Given the description of an element on the screen output the (x, y) to click on. 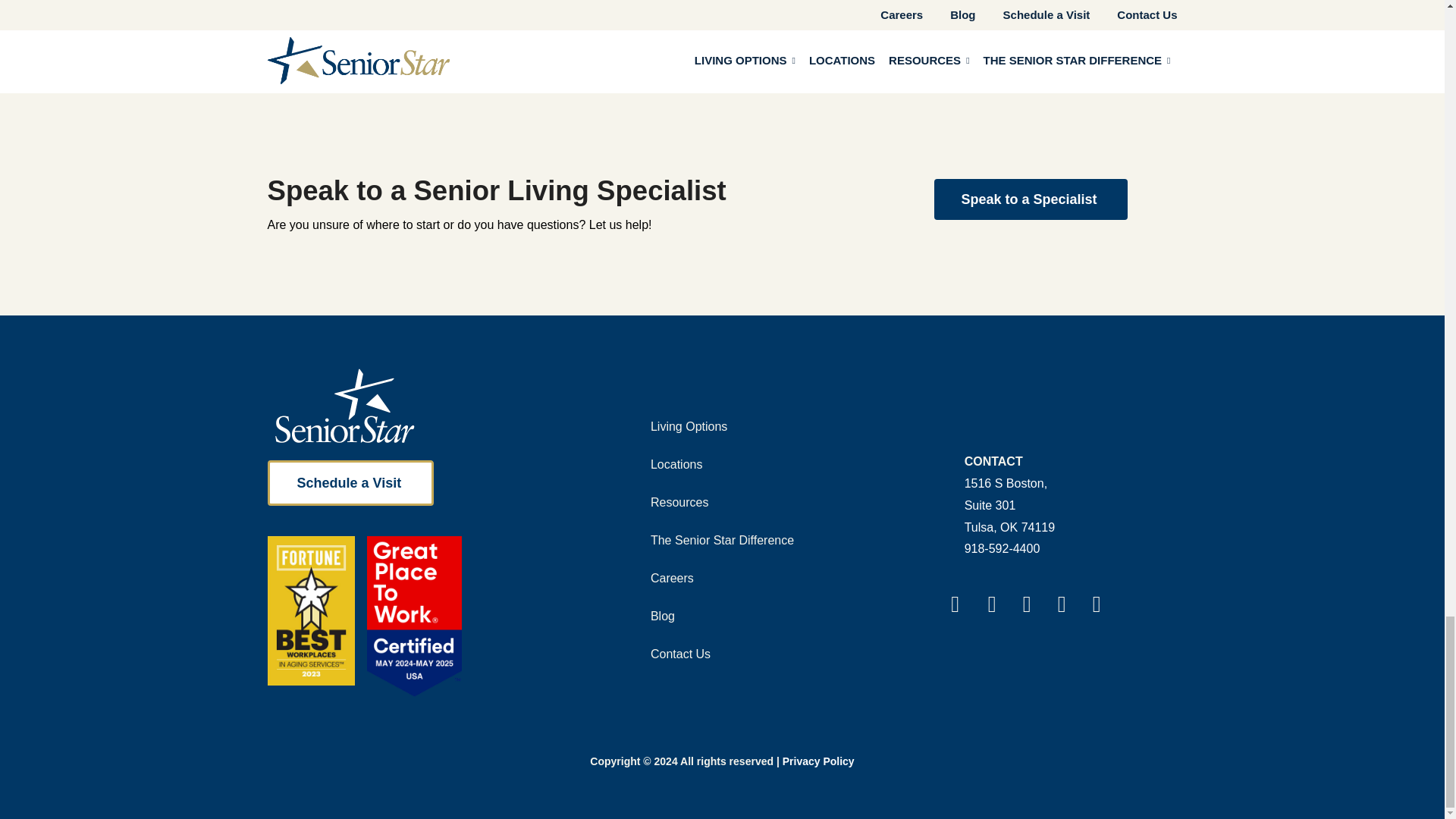
Blog (1004, 493)
Living Options (662, 616)
Resources (688, 426)
Careers (678, 502)
Schedule a Visit (671, 578)
The Senior Star Difference (349, 483)
Locations (721, 540)
Speak to a Specialist (676, 464)
Contact Us (1030, 199)
